Given the description of an element on the screen output the (x, y) to click on. 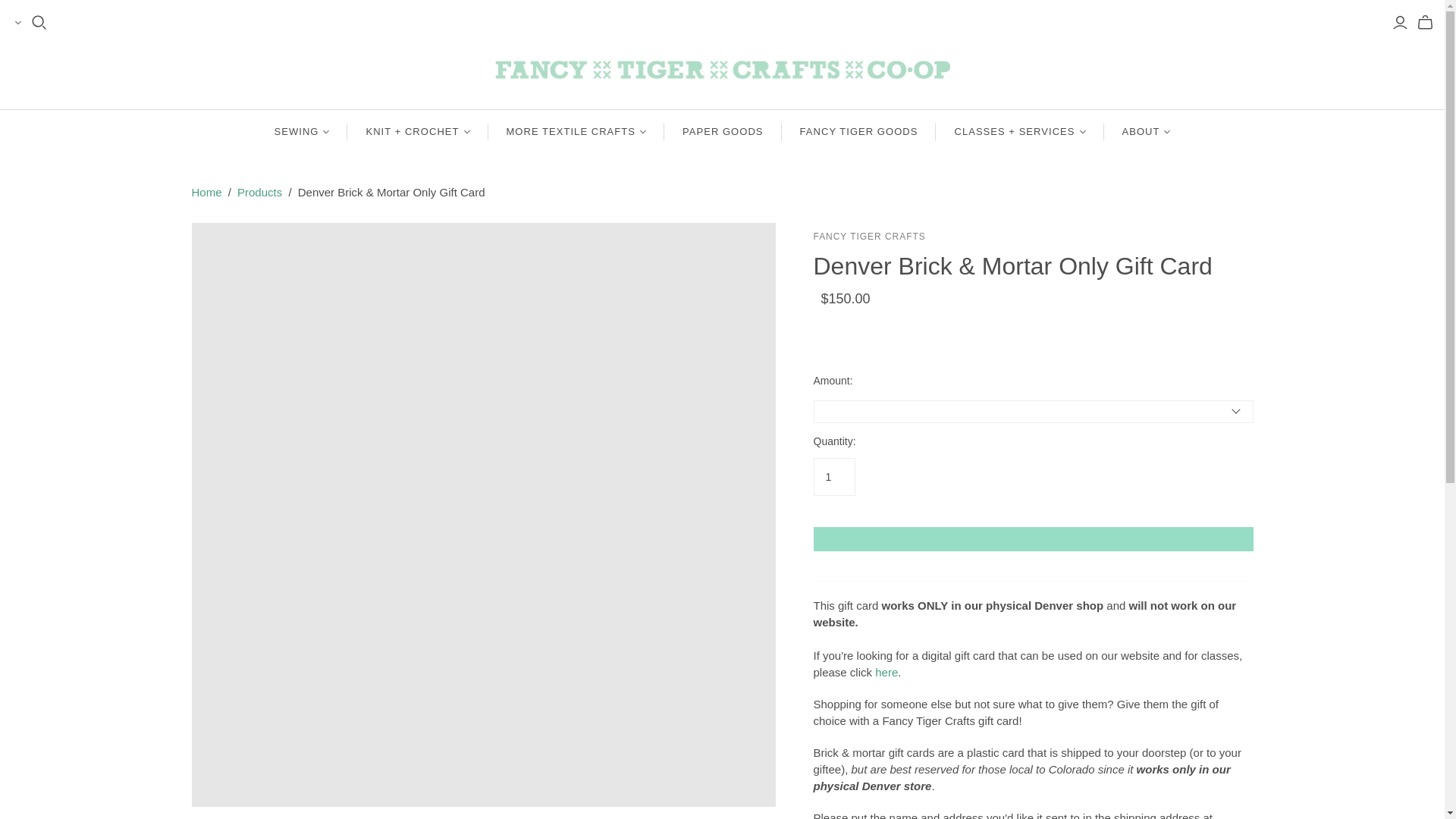
Fancy Tiger Crafts (868, 235)
1 (833, 476)
SEWING (301, 131)
